Given the description of an element on the screen output the (x, y) to click on. 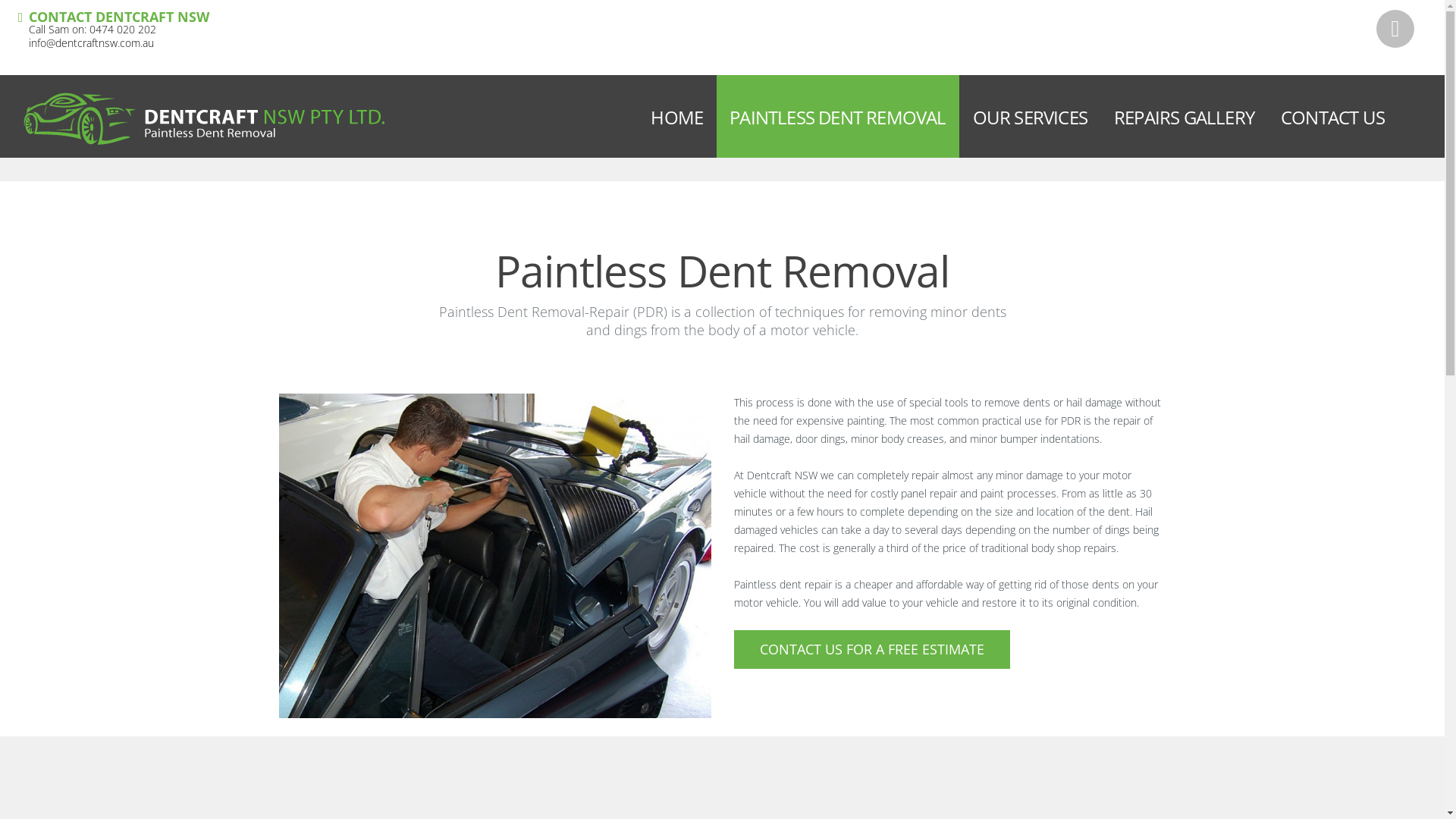
CONTACT US Element type: text (1332, 116)
REPAIRS GALLERY Element type: text (1184, 116)
OUR SERVICES Element type: text (1030, 116)
HOME Element type: text (676, 116)
info@dentcraftnsw.com.au Element type: text (90, 42)
PAINTLESS DENT REMOVAL Element type: text (837, 116)
CONTACT US FOR A FREE ESTIMATE Element type: text (872, 649)
facebook Element type: hover (1395, 28)
